Given the description of an element on the screen output the (x, y) to click on. 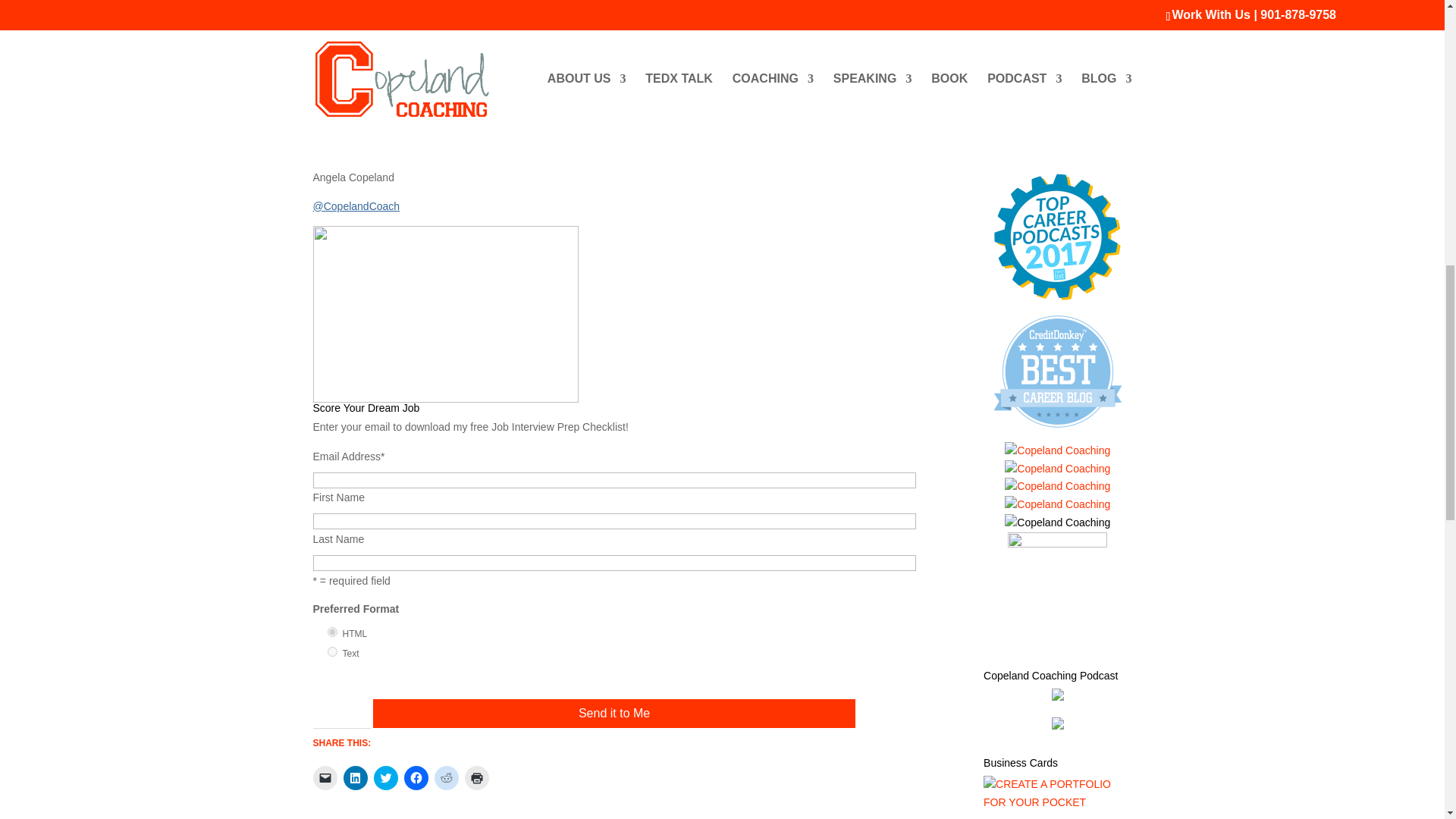
Click to share on Reddit (445, 777)
Mac's List Top Podcast (1056, 297)
Click to share on Facebook (415, 777)
text (332, 651)
Click to share on LinkedIn (354, 777)
Click to print (475, 777)
Click to share on Twitter (384, 777)
Click to email a link to a friend (324, 777)
html (332, 632)
Send it to Me (614, 713)
